Given the description of an element on the screen output the (x, y) to click on. 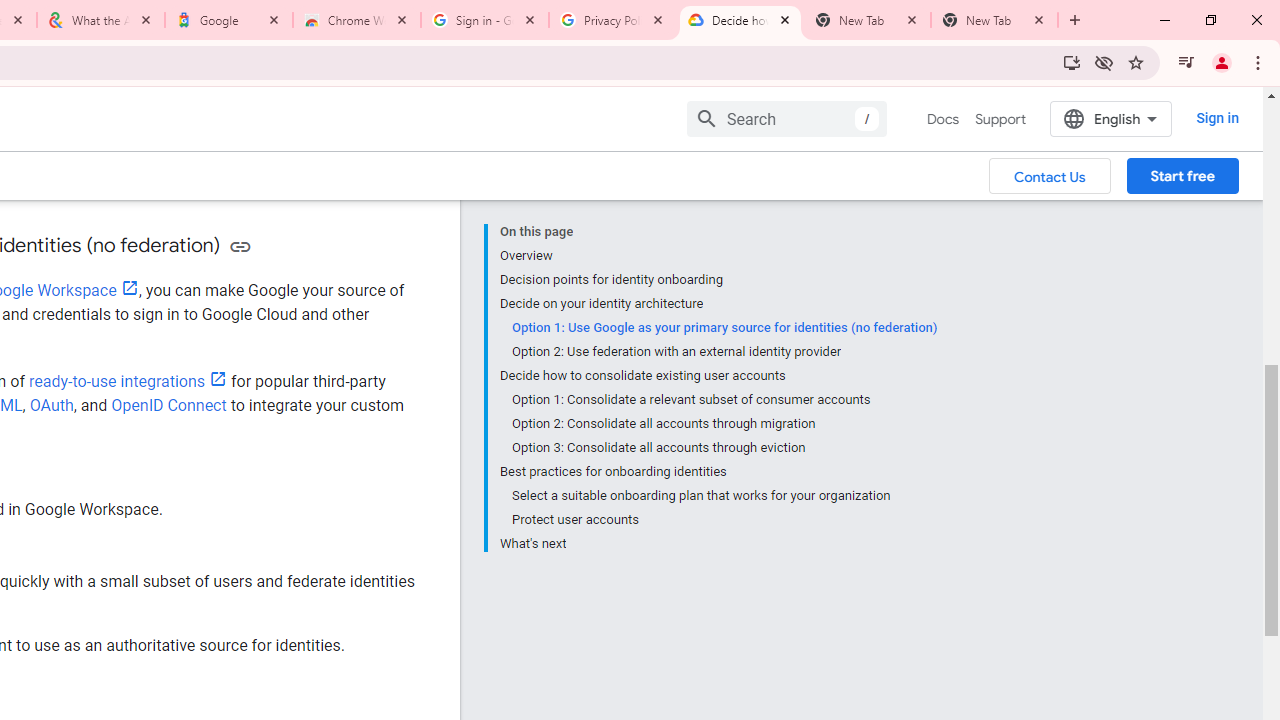
New Tab (994, 20)
Chrome Web Store - Color themes by Chrome (357, 20)
Install Google Cloud (1071, 62)
ready-to-use integrations (127, 381)
Overview (717, 255)
Start free (1182, 175)
English (1110, 118)
